Given the description of an element on the screen output the (x, y) to click on. 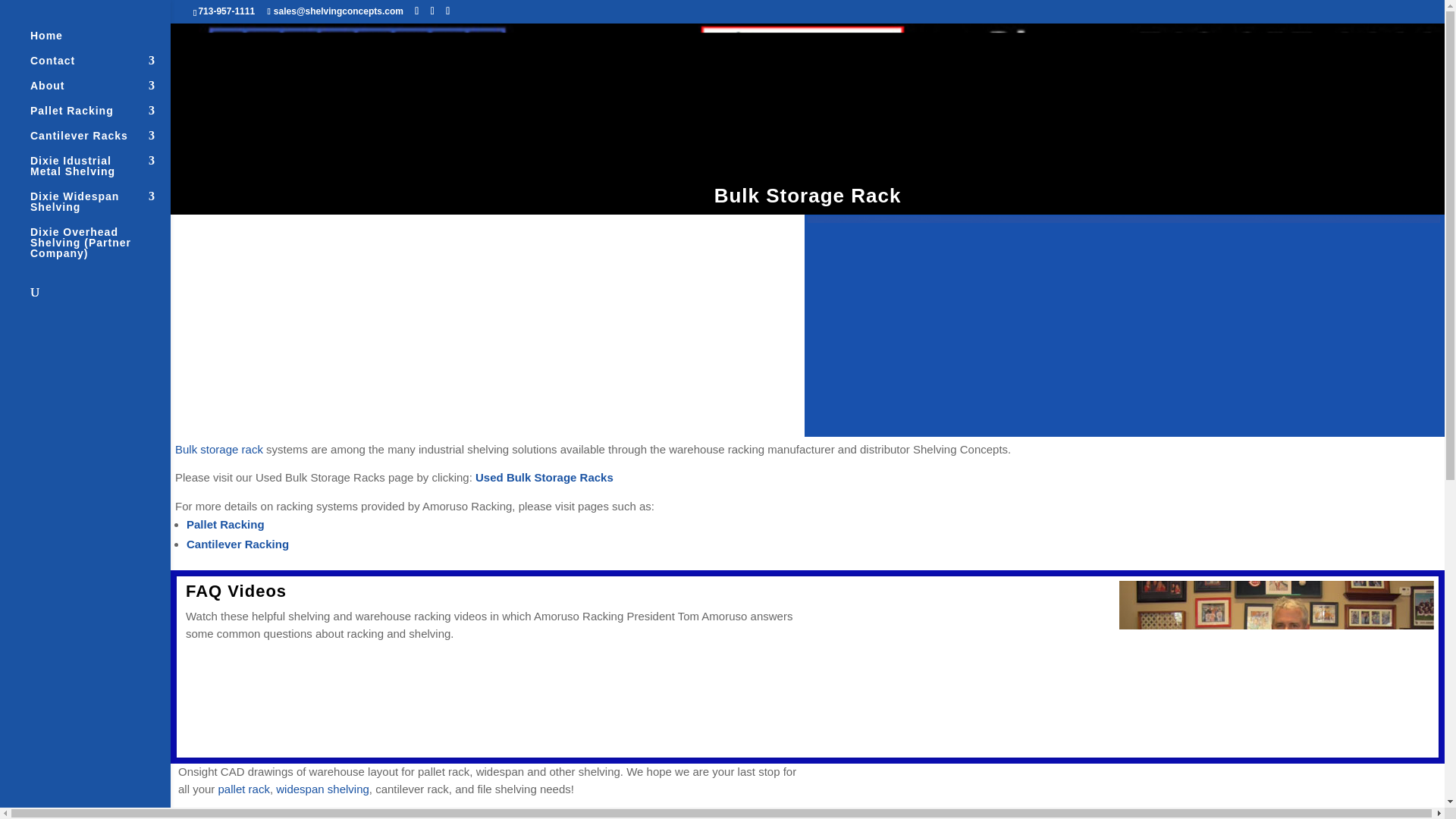
Contact (100, 67)
Pallet Racking (100, 117)
Home (100, 42)
Dixie Widespan Shelving (100, 208)
Dixie Idustrial Metal Shelving (100, 172)
About (100, 92)
Cantilever Racks (100, 142)
